Given the description of an element on the screen output the (x, y) to click on. 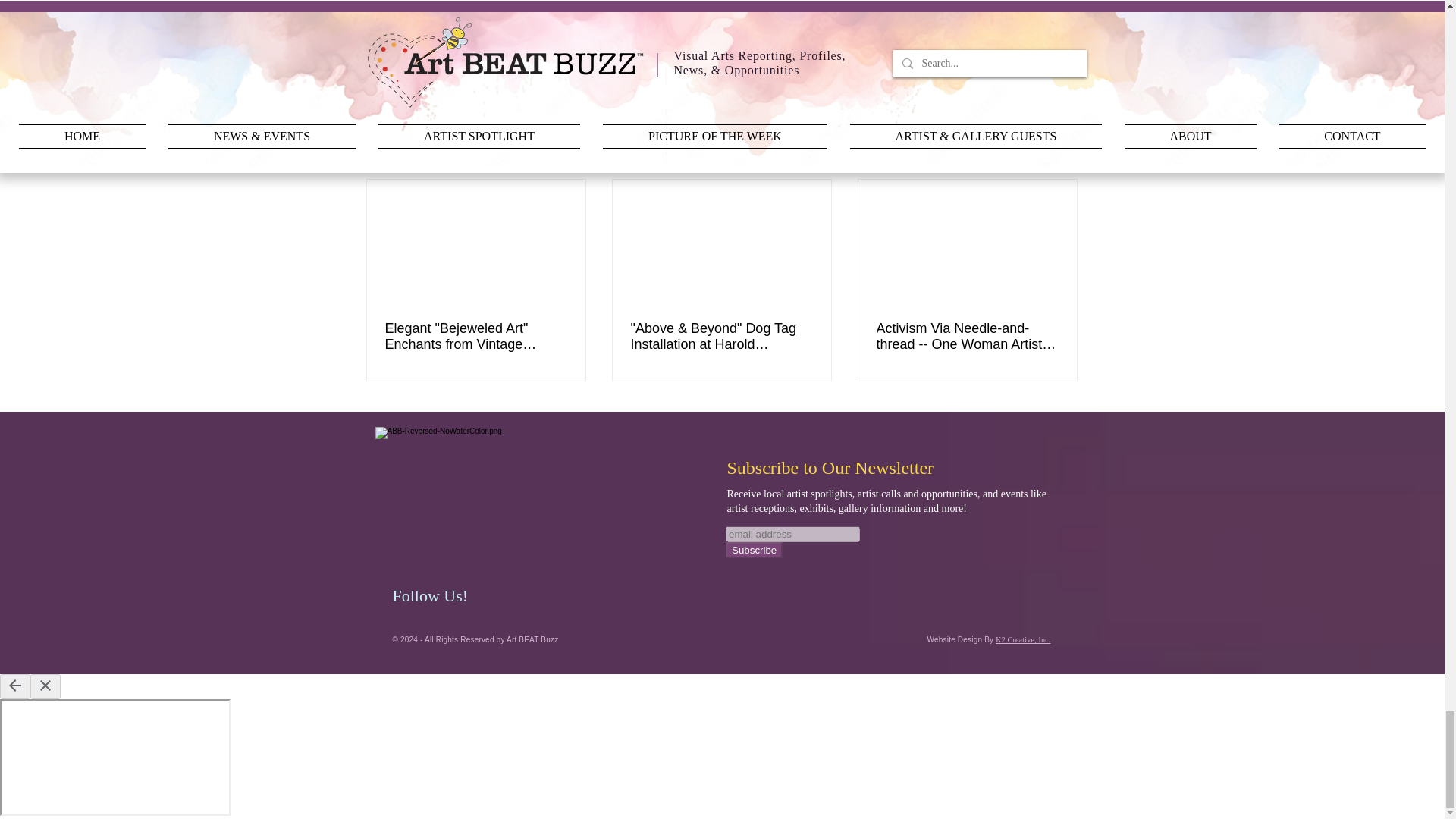
Website Design By K2 Creative, Inc. (989, 639)
See All (1061, 152)
Artist Spotlight (968, 55)
Embedded Content (893, 564)
